Given the description of an element on the screen output the (x, y) to click on. 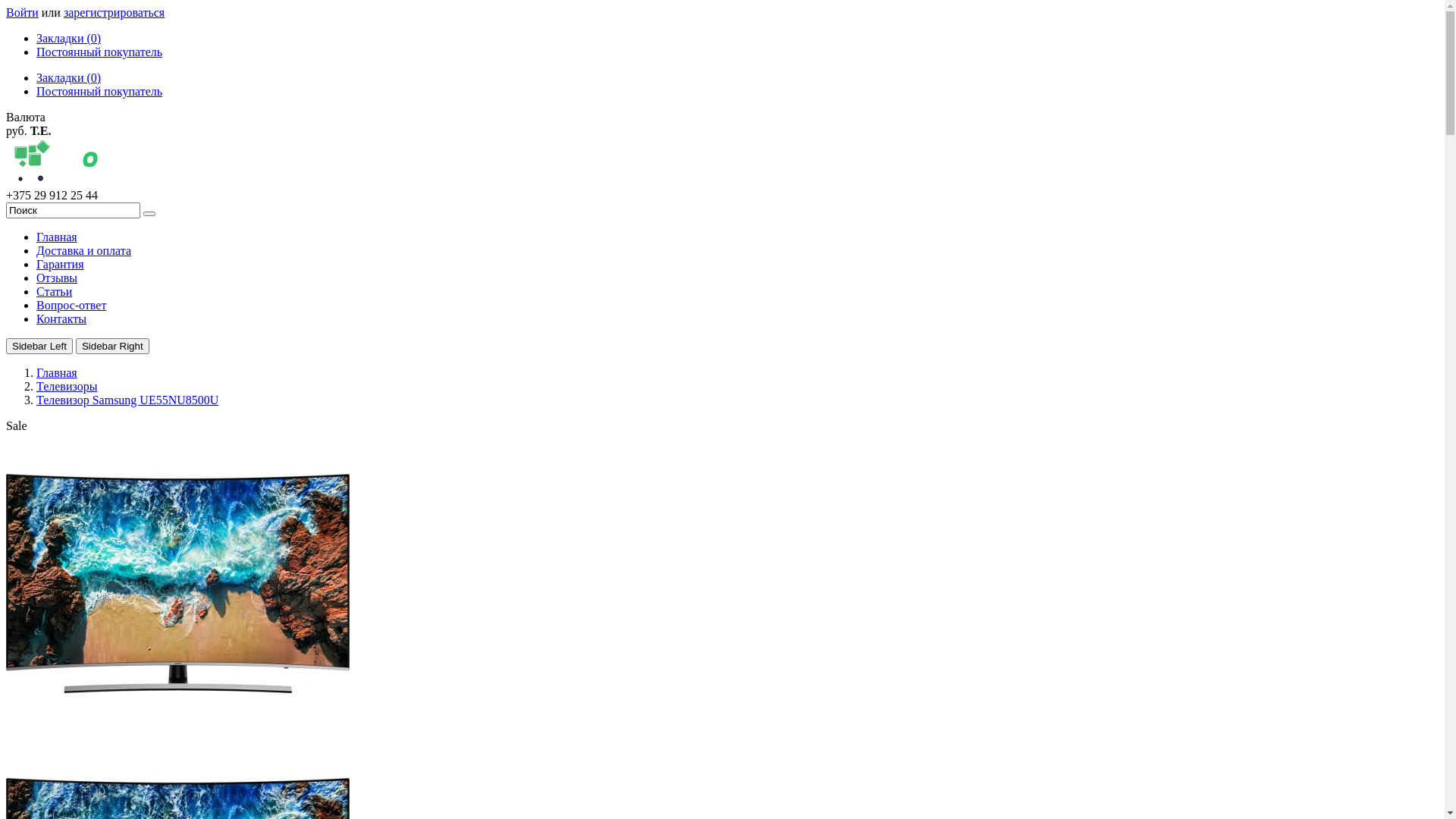
Sidebar Right Element type: text (112, 346)
sotamir.by Element type: hover (108, 161)
Sidebar Left Element type: text (39, 346)
